Given the description of an element on the screen output the (x, y) to click on. 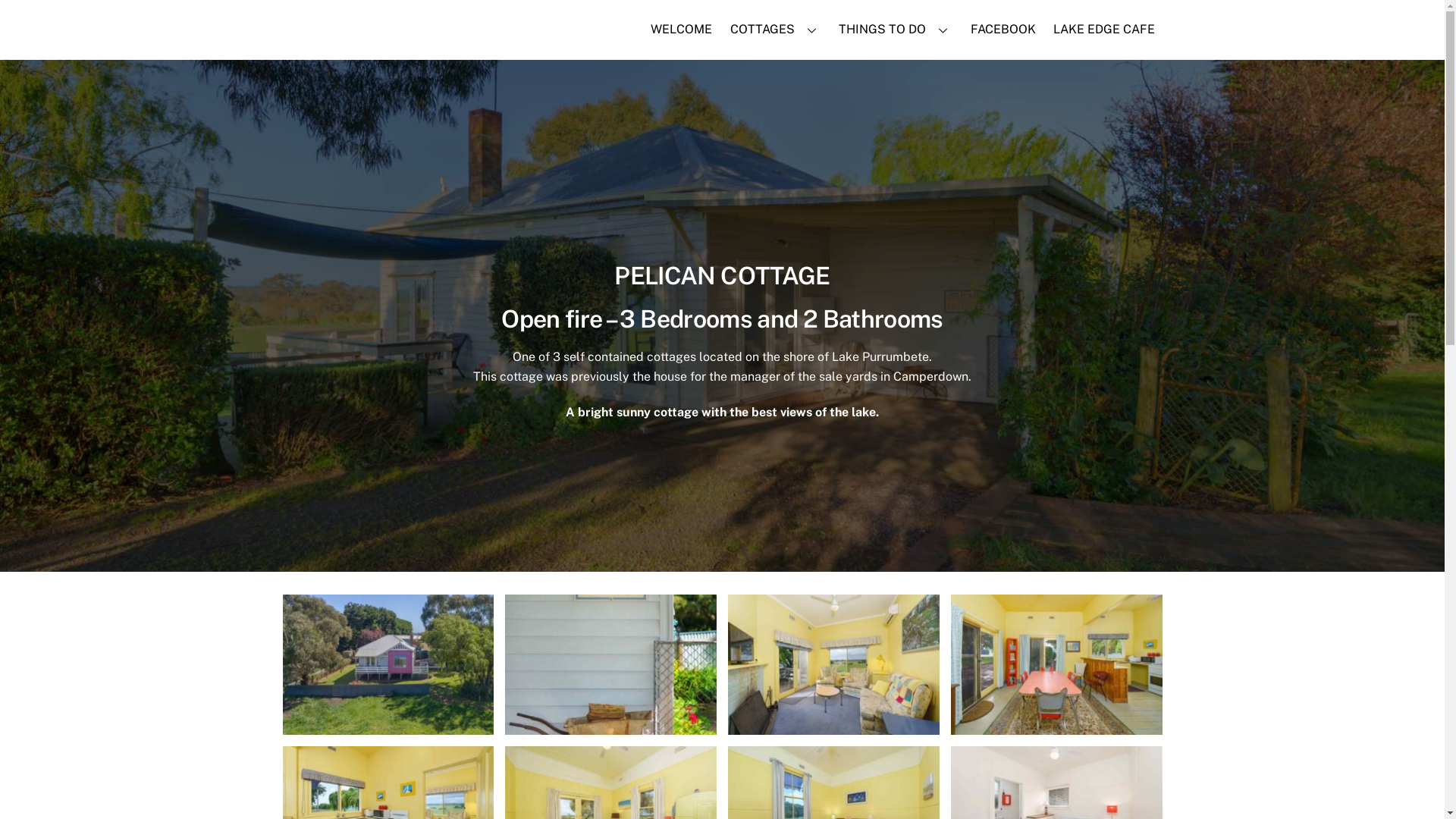
Portrait Pelican Cottage Lake Purrumbete Cottages 1 Element type: hover (610, 664)
FACEBOOK Element type: text (1002, 29)
THINGS TO DO Element type: text (895, 29)
Pelican Cottage Lake Purrumbete Cottages 7 Element type: hover (1056, 664)
LAKE EDGE CAFE Element type: text (1103, 29)
WELCOME Element type: text (681, 29)
Pelican Cottage Lake Purrumbete Cottages 5 Element type: hover (833, 664)
Pelican Cottage Lake Purrumbete Cottages 4 Element type: hover (387, 664)
COTTAGES Element type: text (775, 29)
